Given the description of an element on the screen output the (x, y) to click on. 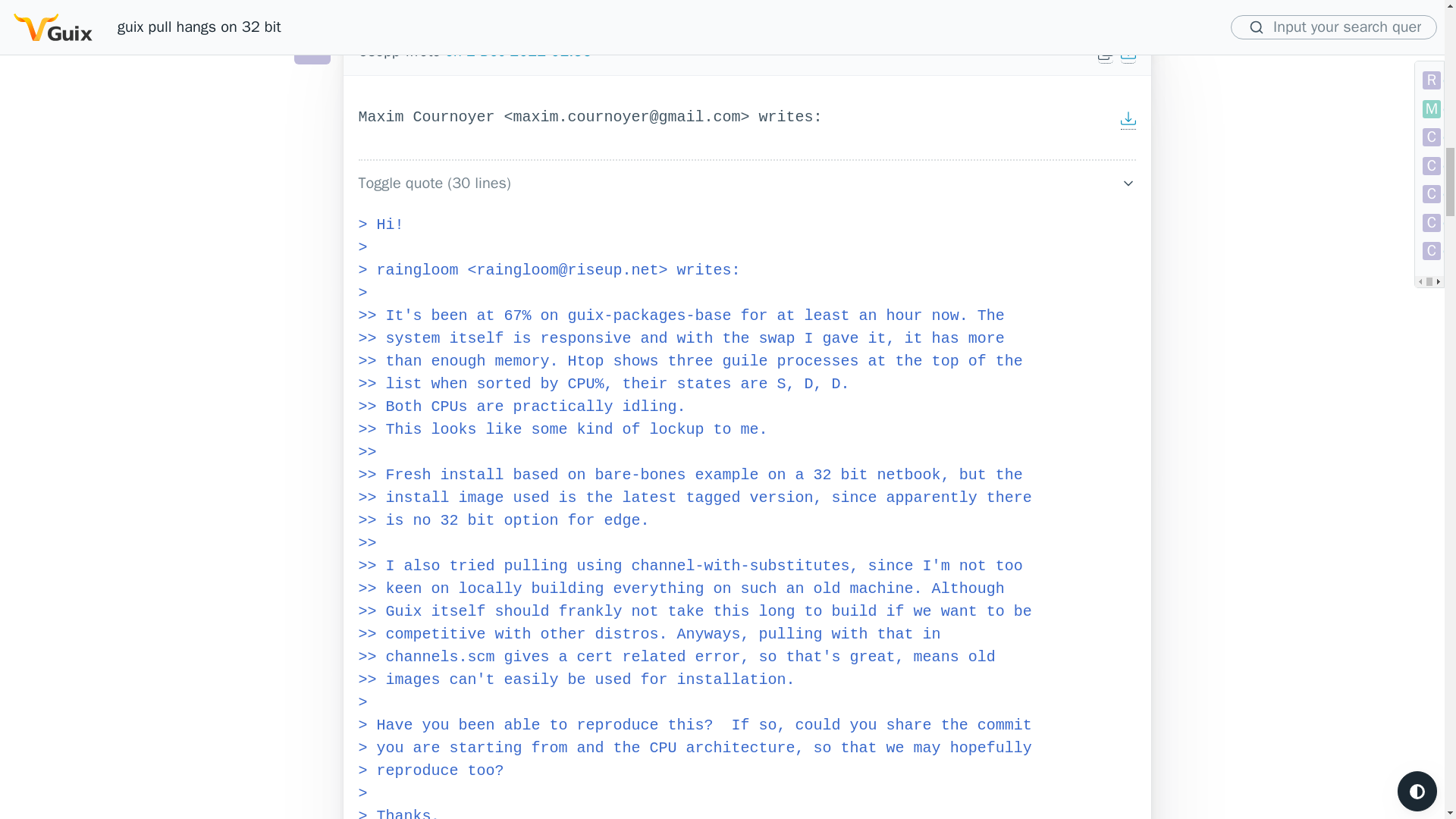
on 1 Dec 2022 01:56 (518, 50)
